Given the description of an element on the screen output the (x, y) to click on. 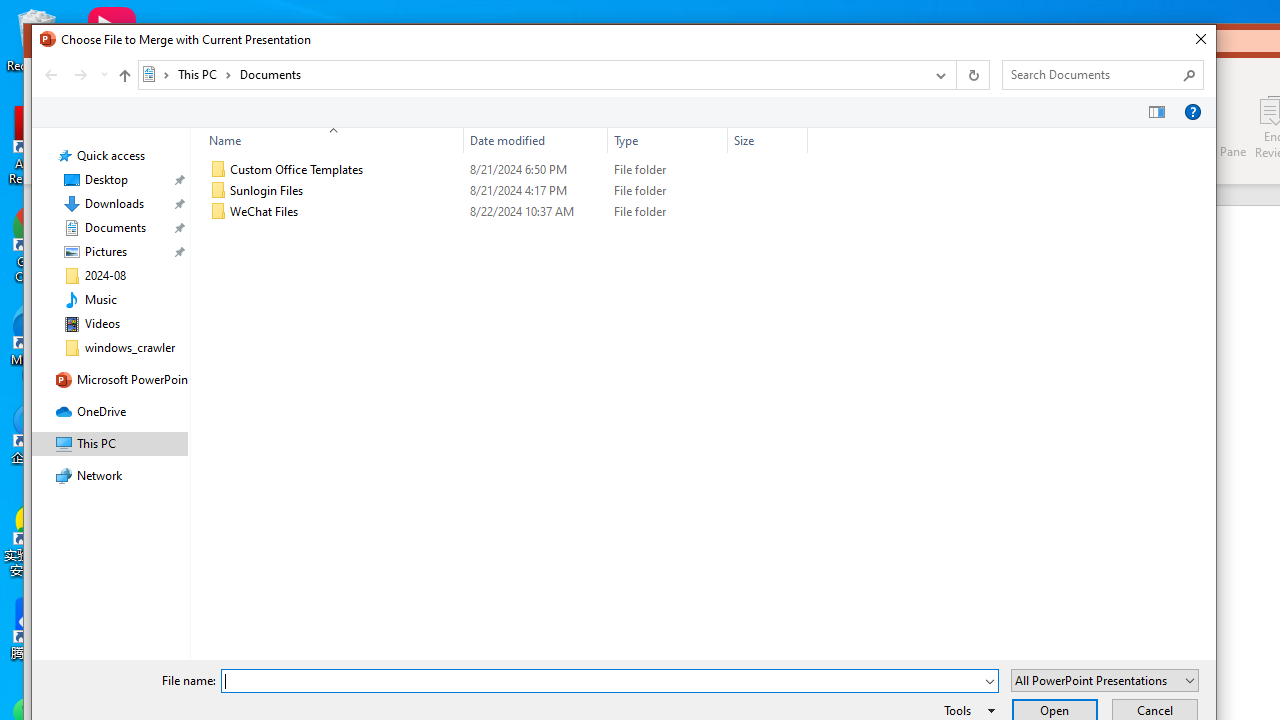
Forward (Alt + Right Arrow) (81, 74)
Files of type: (1105, 679)
Navigation buttons (73, 74)
Previous Locations (939, 74)
File name: (609, 680)
File name: (602, 681)
Custom Office Templates (504, 169)
Address band toolbar (955, 74)
Name (327, 140)
Up band toolbar (124, 78)
&Help (1192, 112)
Type (668, 211)
Recent locations (103, 74)
